Given the description of an element on the screen output the (x, y) to click on. 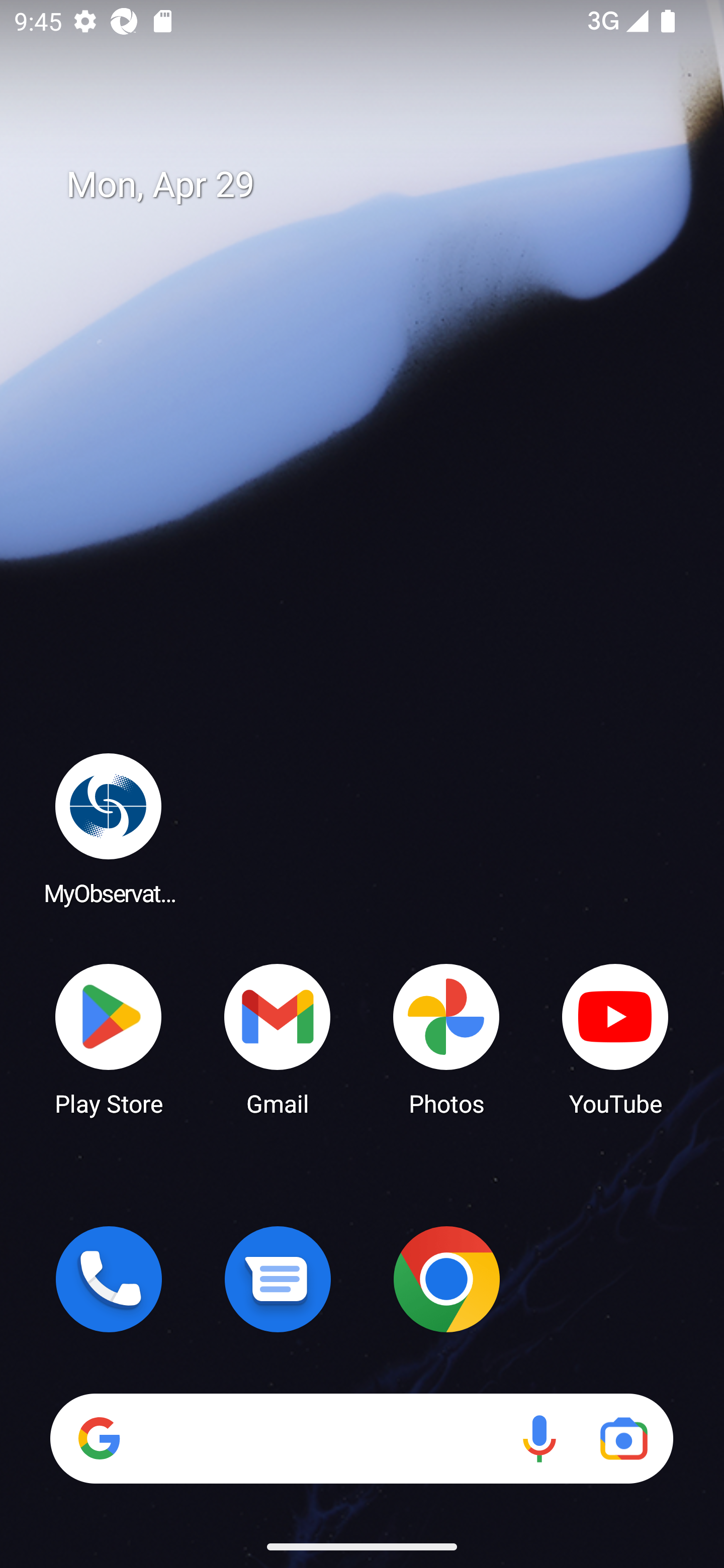
Mon, Apr 29 (375, 184)
MyObservatory (108, 828)
Play Store (108, 1038)
Gmail (277, 1038)
Photos (445, 1038)
YouTube (615, 1038)
Phone (108, 1279)
Messages (277, 1279)
Chrome (446, 1279)
Voice search (539, 1438)
Google Lens (623, 1438)
